Given the description of an element on the screen output the (x, y) to click on. 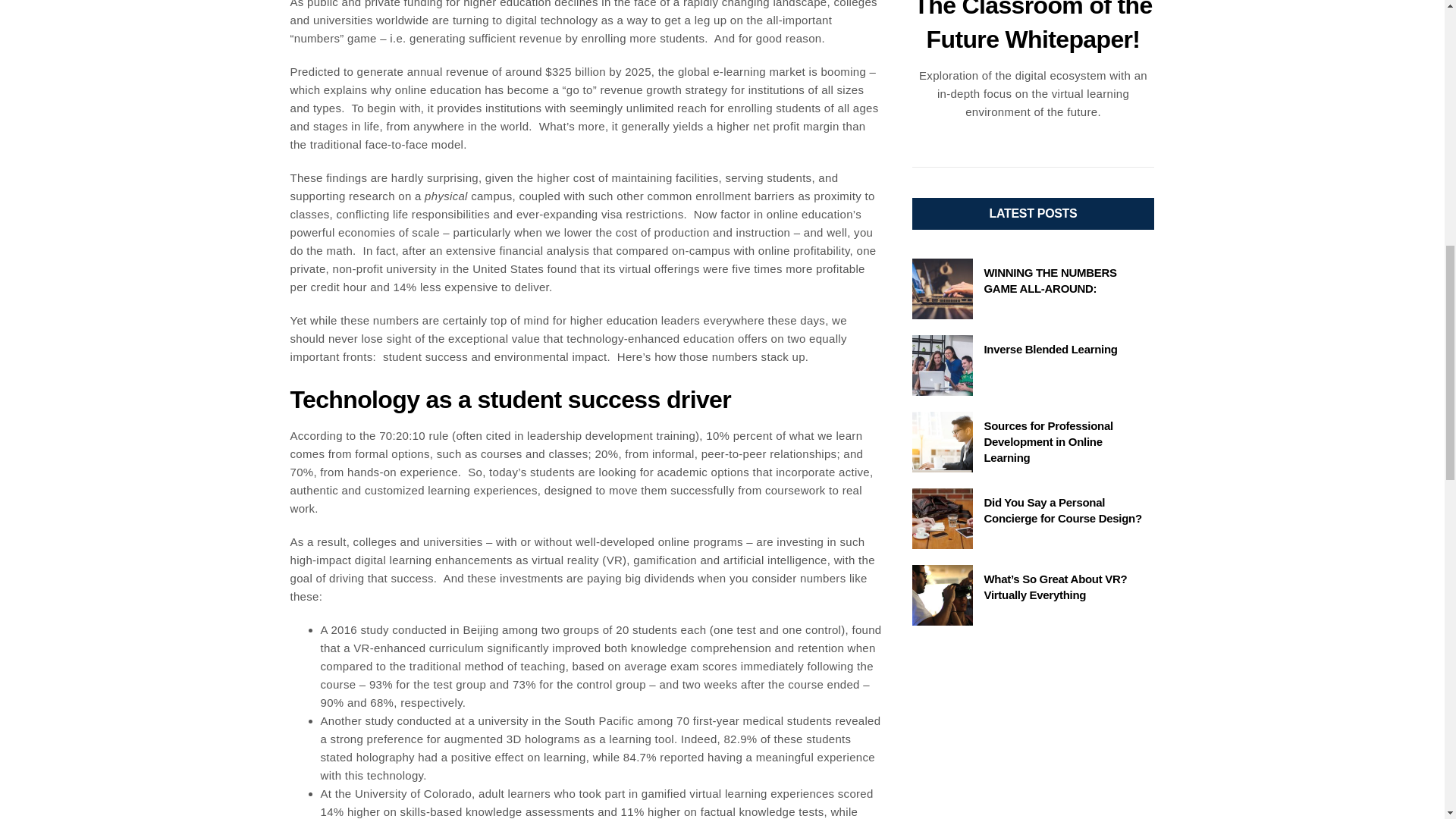
WINNING THE NUMBERS GAME ALL-AROUND: (1050, 280)
Sources for Professional Development in Online Learning (1048, 441)
Inverse Blended Learning (1051, 349)
Did You Say a Personal Concierge for Course Design? (1062, 510)
